Given the description of an element on the screen output the (x, y) to click on. 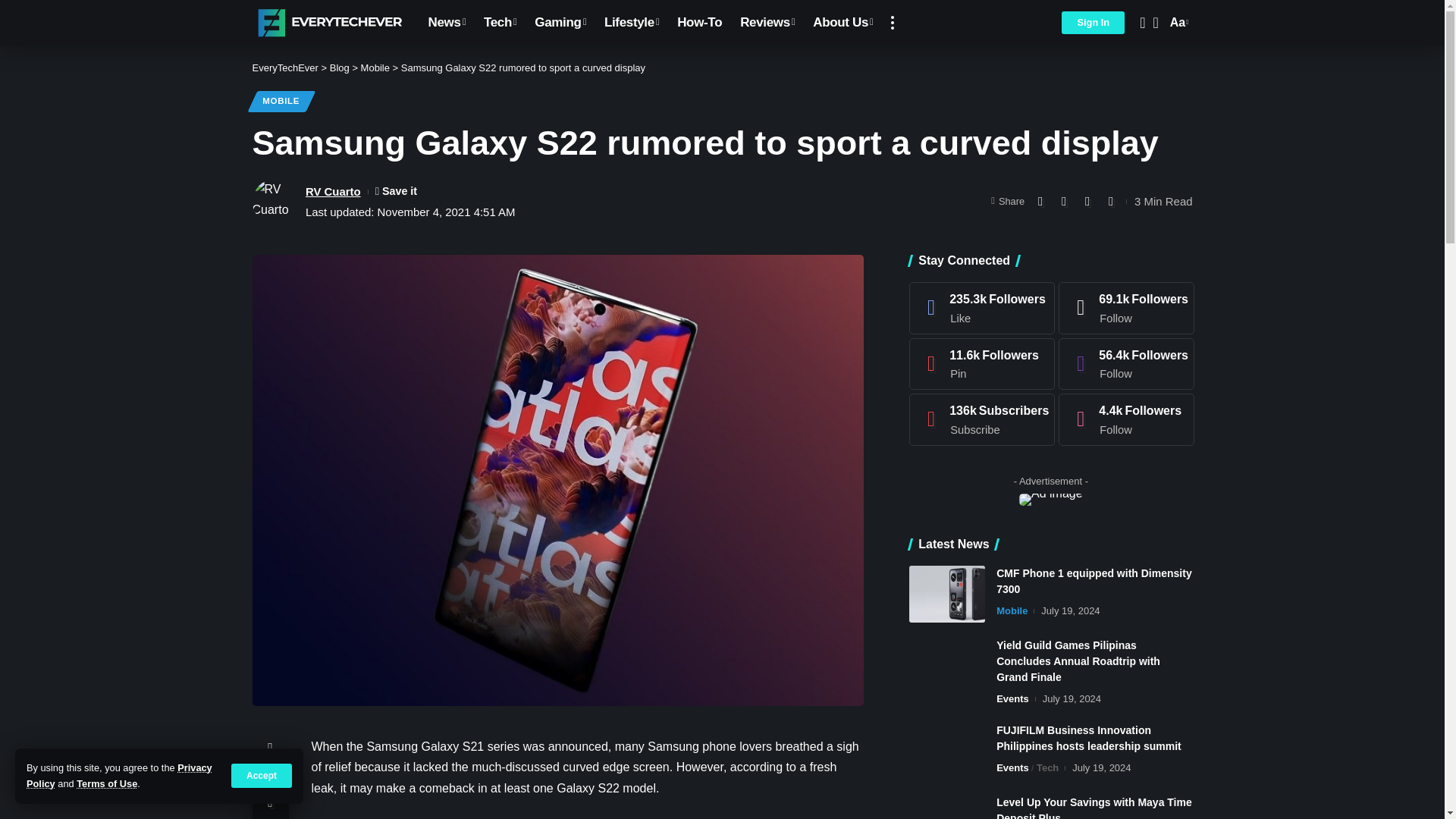
Accept (261, 775)
Terms of Use (106, 783)
Lifestyle (631, 22)
News (446, 22)
How-To (699, 22)
Privacy Policy (119, 775)
Tech (499, 22)
Gaming (560, 22)
EveryTechEver (327, 22)
